Given the description of an element on the screen output the (x, y) to click on. 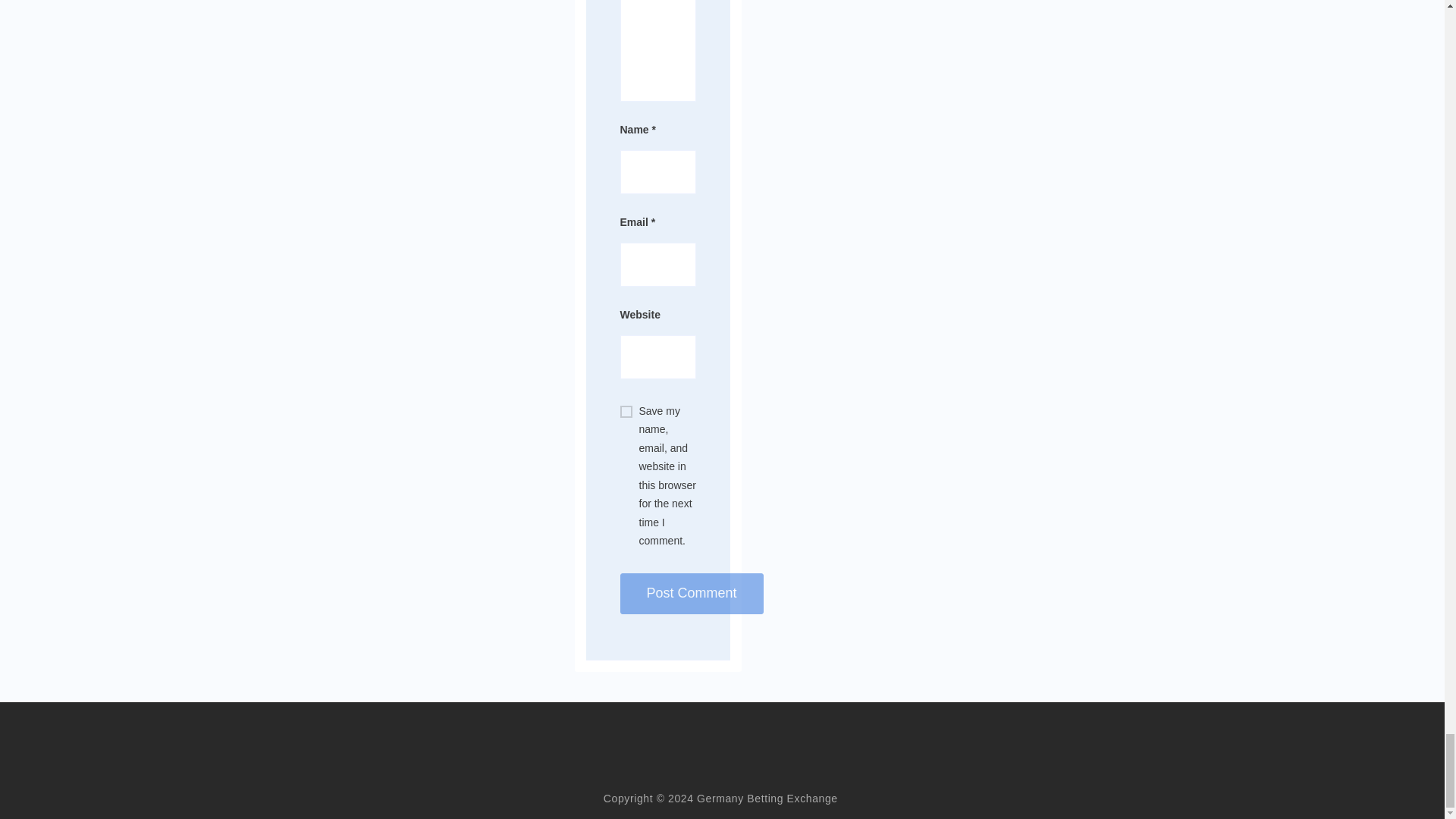
Post Comment (691, 593)
